Given the description of an element on the screen output the (x, y) to click on. 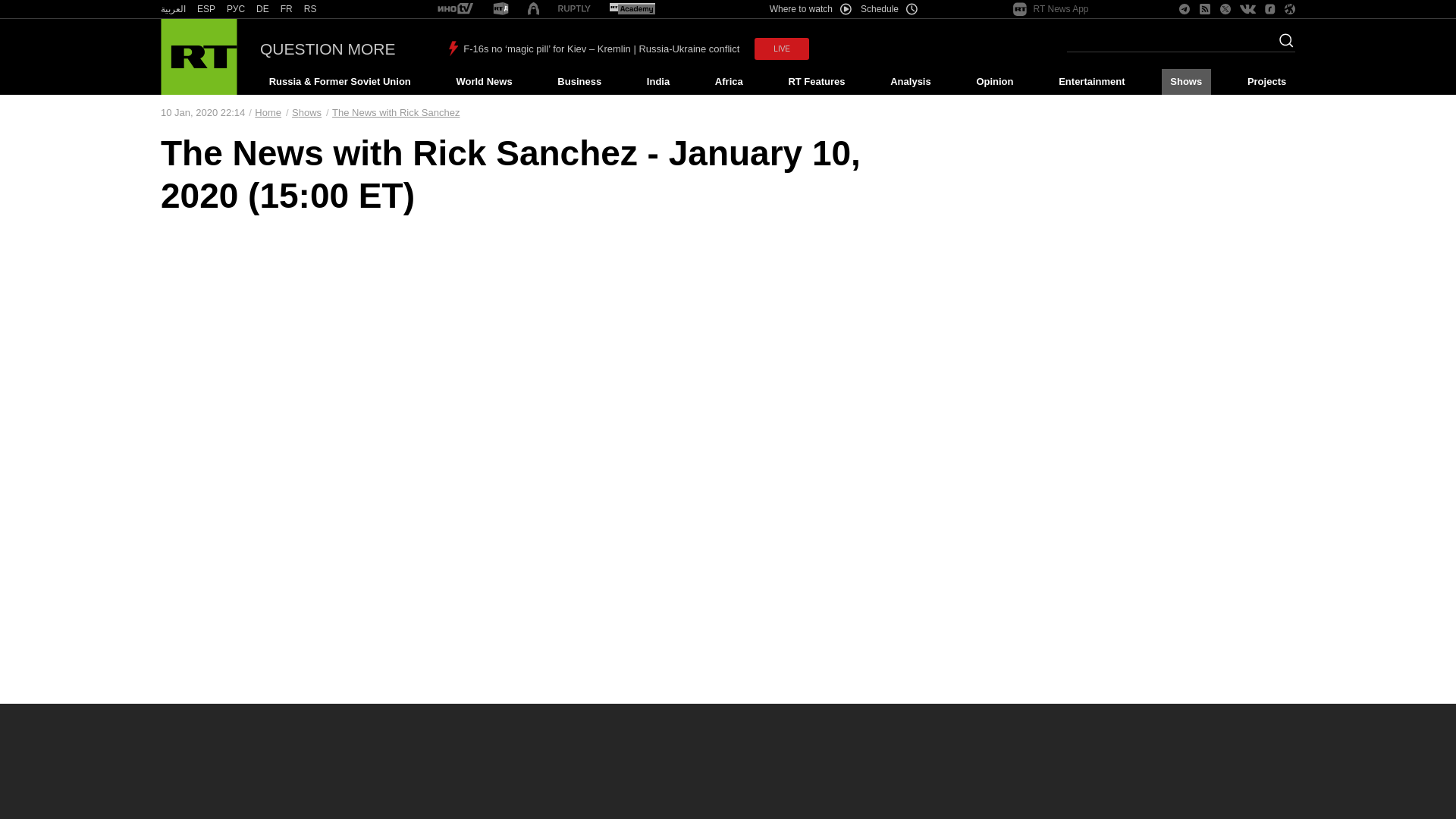
RT News App (1051, 9)
Entertainment (1091, 81)
Africa (728, 81)
RT  (500, 9)
RS (310, 9)
India (657, 81)
Analysis (911, 81)
Opinion (995, 81)
RT  (286, 9)
Business (579, 81)
RT  (632, 9)
RT  (262, 9)
World News (483, 81)
RT  (310, 9)
DE (262, 9)
